Given the description of an element on the screen output the (x, y) to click on. 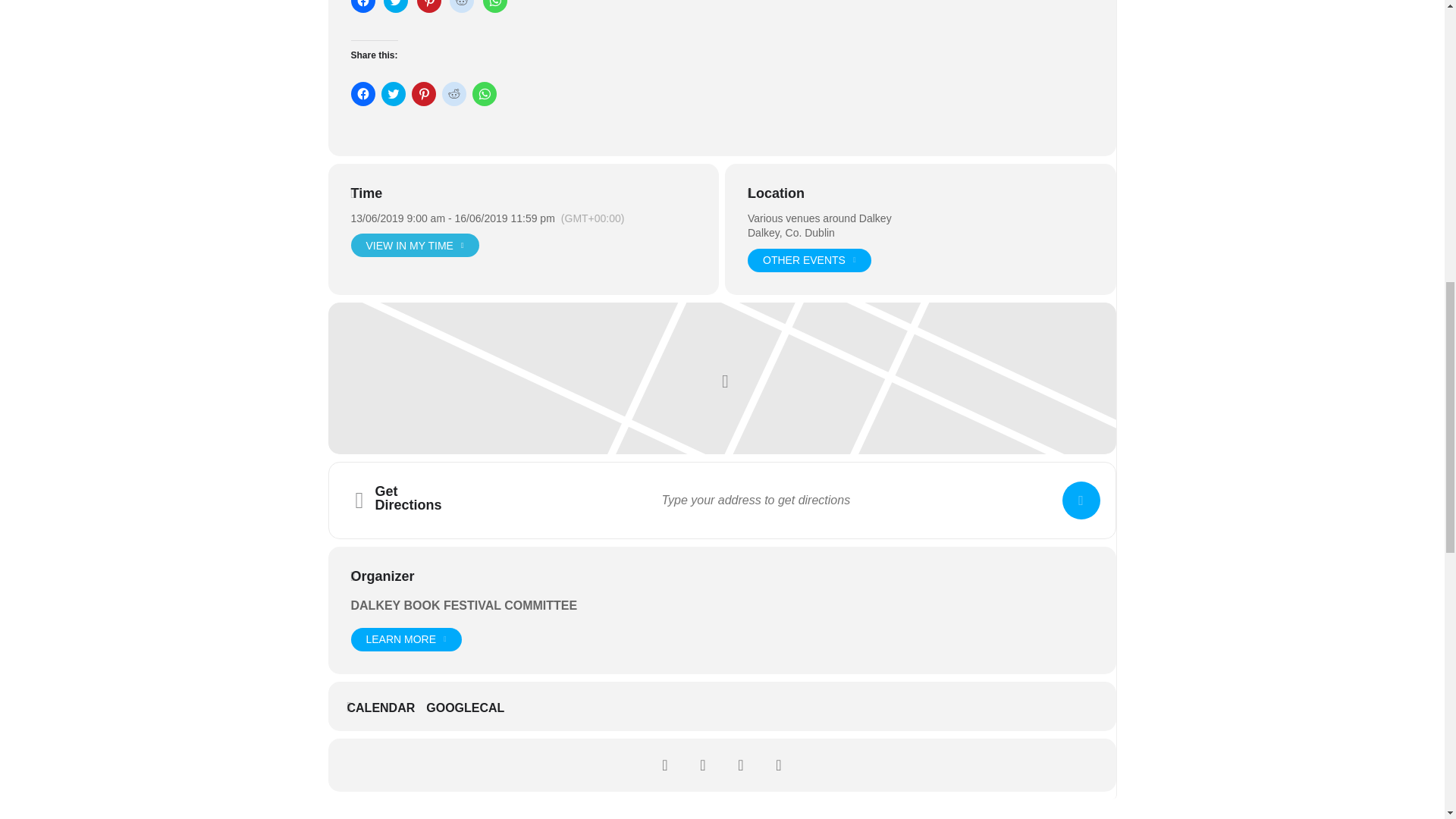
Click to share on Twitter (395, 6)
Click to share on Reddit (453, 93)
Click to share on Pinterest (428, 6)
Click to share on Pinterest (422, 93)
Click to share on Facebook (362, 93)
Click to share on Reddit (461, 6)
Click to share on Facebook (362, 6)
Click to share on Twitter (392, 93)
Click to share on WhatsApp (494, 6)
